Given the description of an element on the screen output the (x, y) to click on. 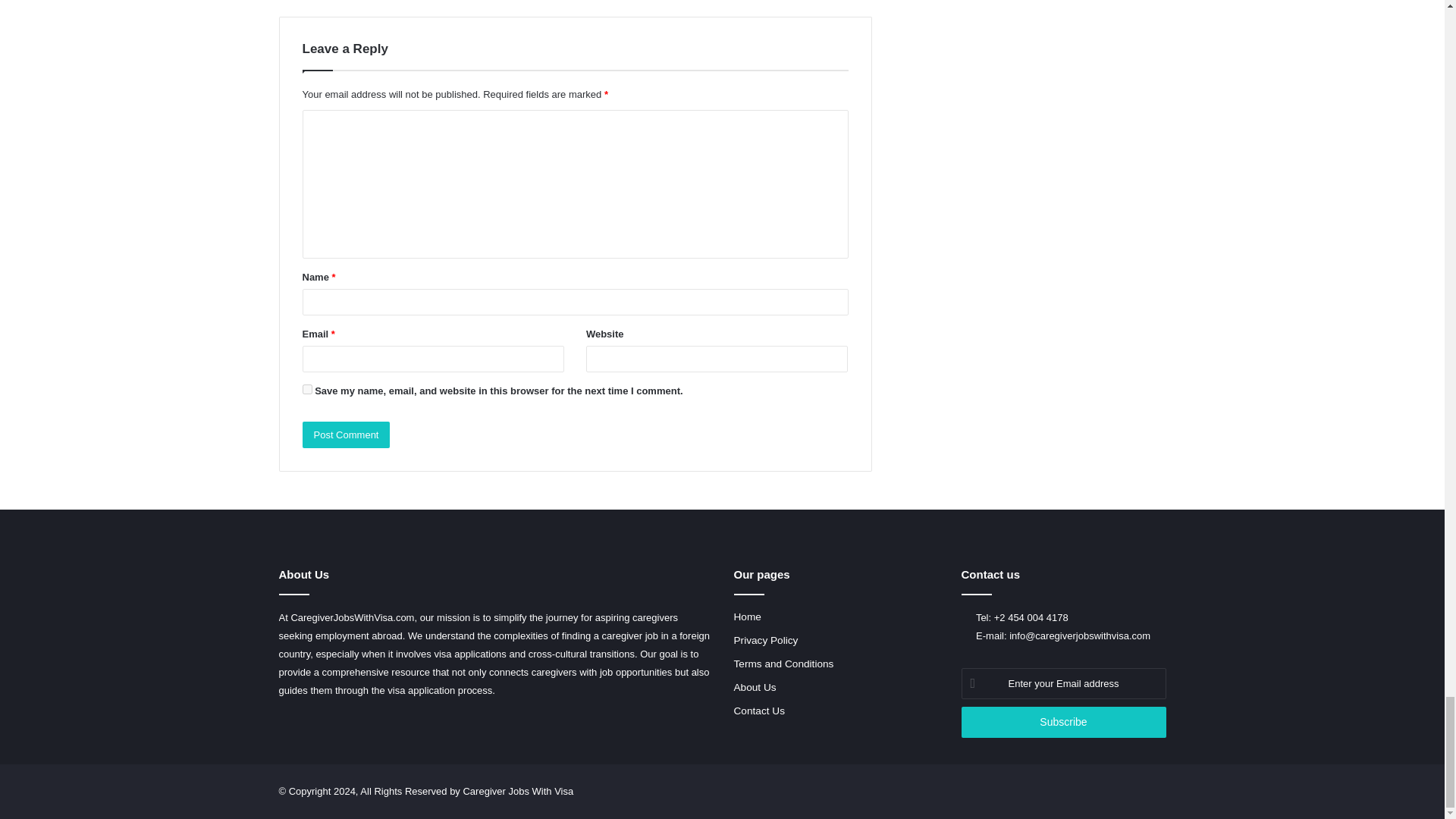
Subscribe (1063, 721)
Post Comment (345, 434)
yes (306, 388)
